Given the description of an element on the screen output the (x, y) to click on. 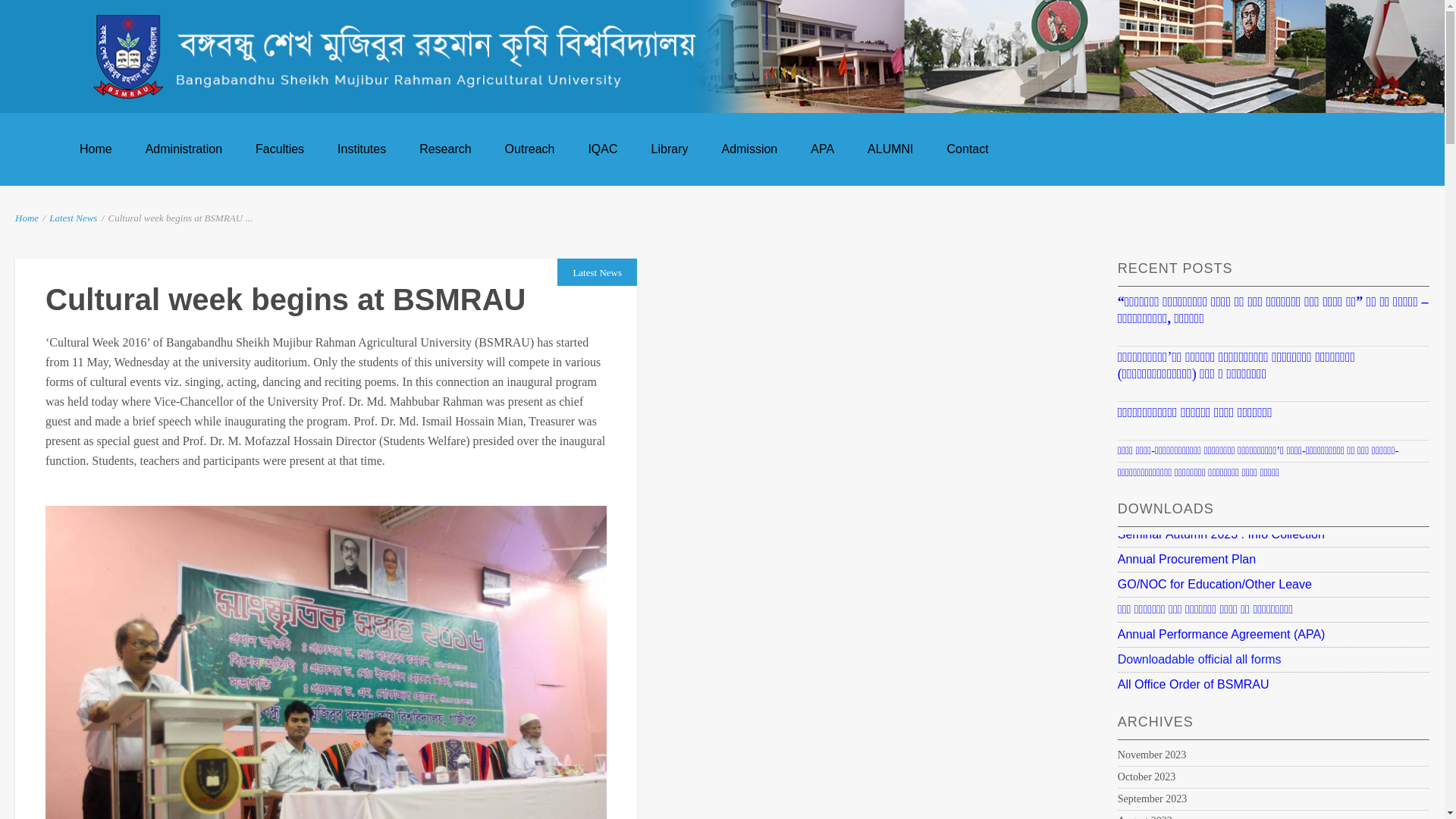
Administration Element type: text (183, 148)
Seminar Autumn 2023 : Info Collection Element type: text (1220, 533)
APA Element type: text (821, 148)
All Office Order of BSMRAU Element type: text (1193, 683)
Latest News Element type: text (596, 272)
Annual Procurement Plan Element type: text (1186, 558)
Faculties Element type: text (279, 148)
Institutes Element type: text (361, 148)
Outreach Element type: text (529, 148)
ALUMNI Element type: text (889, 148)
September 2023 Element type: text (1151, 798)
Home Element type: text (95, 148)
Latest News Element type: text (73, 217)
Home Element type: text (26, 217)
Annual Performance Agreement (APA) Element type: text (1221, 633)
November 2023 Element type: text (1151, 754)
IQAC Element type: text (602, 148)
October 2023 Element type: text (1146, 776)
Contact Element type: text (967, 148)
Library Element type: text (669, 148)
Research Element type: text (444, 148)
Downloadable official all forms Element type: text (1199, 658)
Admission Element type: text (748, 148)
GO/NOC for Education/Other Leave Element type: text (1214, 583)
